Given the description of an element on the screen output the (x, y) to click on. 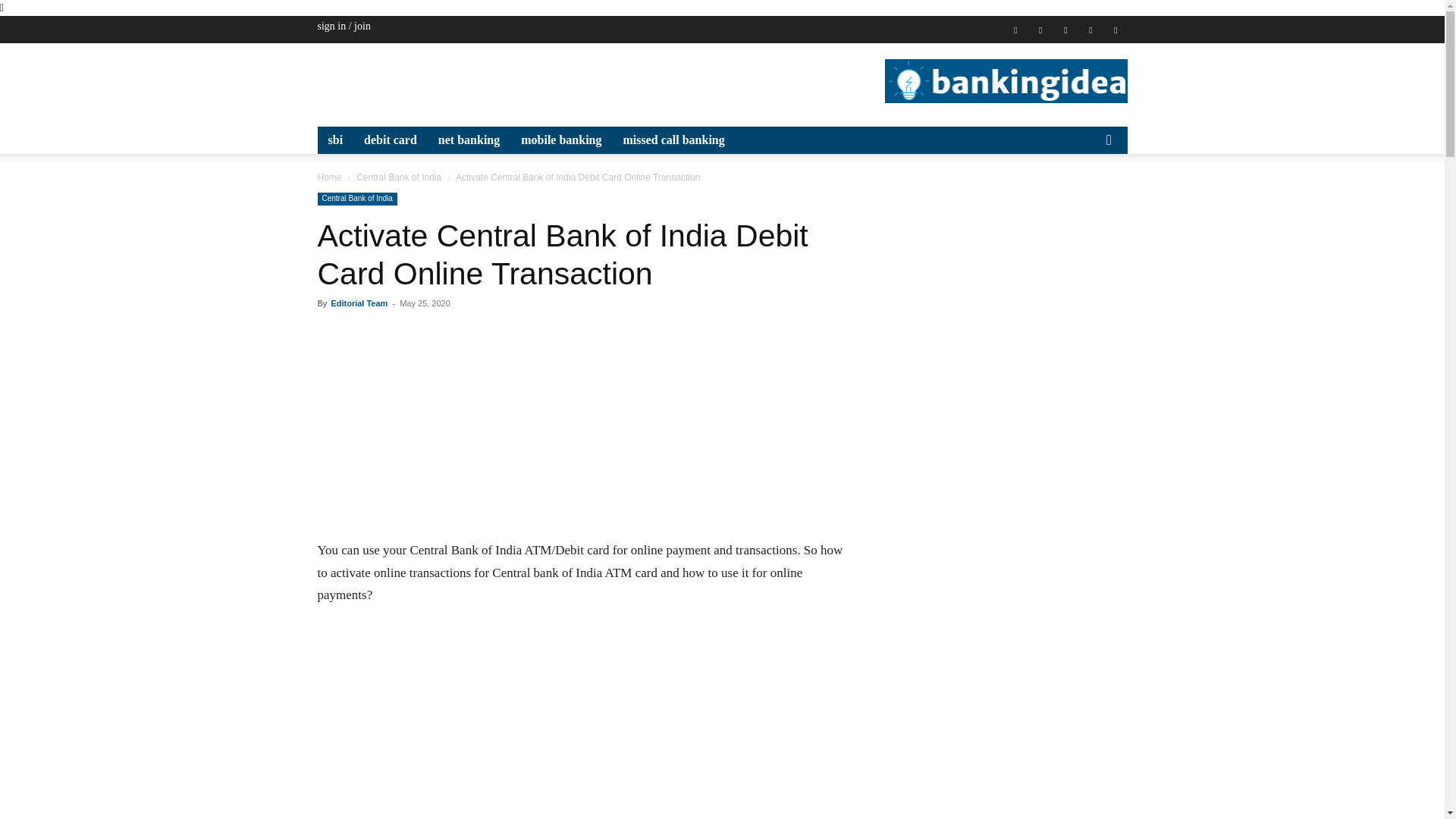
Central Bank of India (398, 176)
net banking (469, 139)
missed call banking (673, 139)
Central Bank of India (356, 198)
Editorial Team (358, 302)
Search (1085, 196)
Home (328, 176)
View all posts in Central Bank of India (398, 176)
sbi (335, 139)
debit card (390, 139)
